Given the description of an element on the screen output the (x, y) to click on. 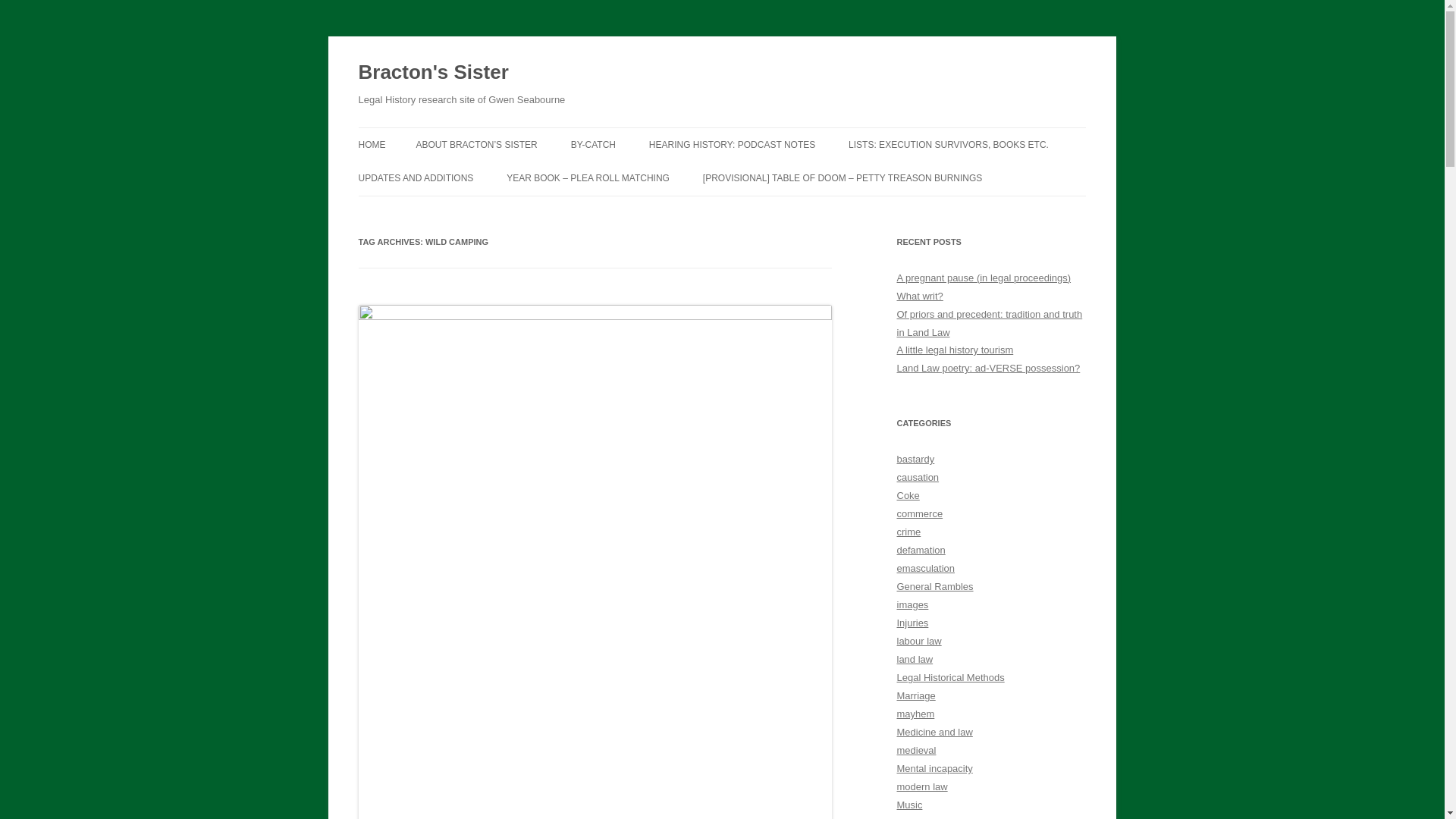
UPDATES AND ADDITIONS (415, 177)
HEARING HISTORY: PODCAST NOTES (732, 144)
What writ? (919, 296)
BY-CATCH (592, 144)
Bracton's Sister (433, 72)
LISTS: EXECUTION SURVIVORS, BOOKS ETC. (948, 144)
Of priors and precedent: tradition and truth in Land Law (988, 323)
A little legal history tourism (954, 349)
Land Law poetry: ad-VERSE possession? (988, 367)
